Given the description of an element on the screen output the (x, y) to click on. 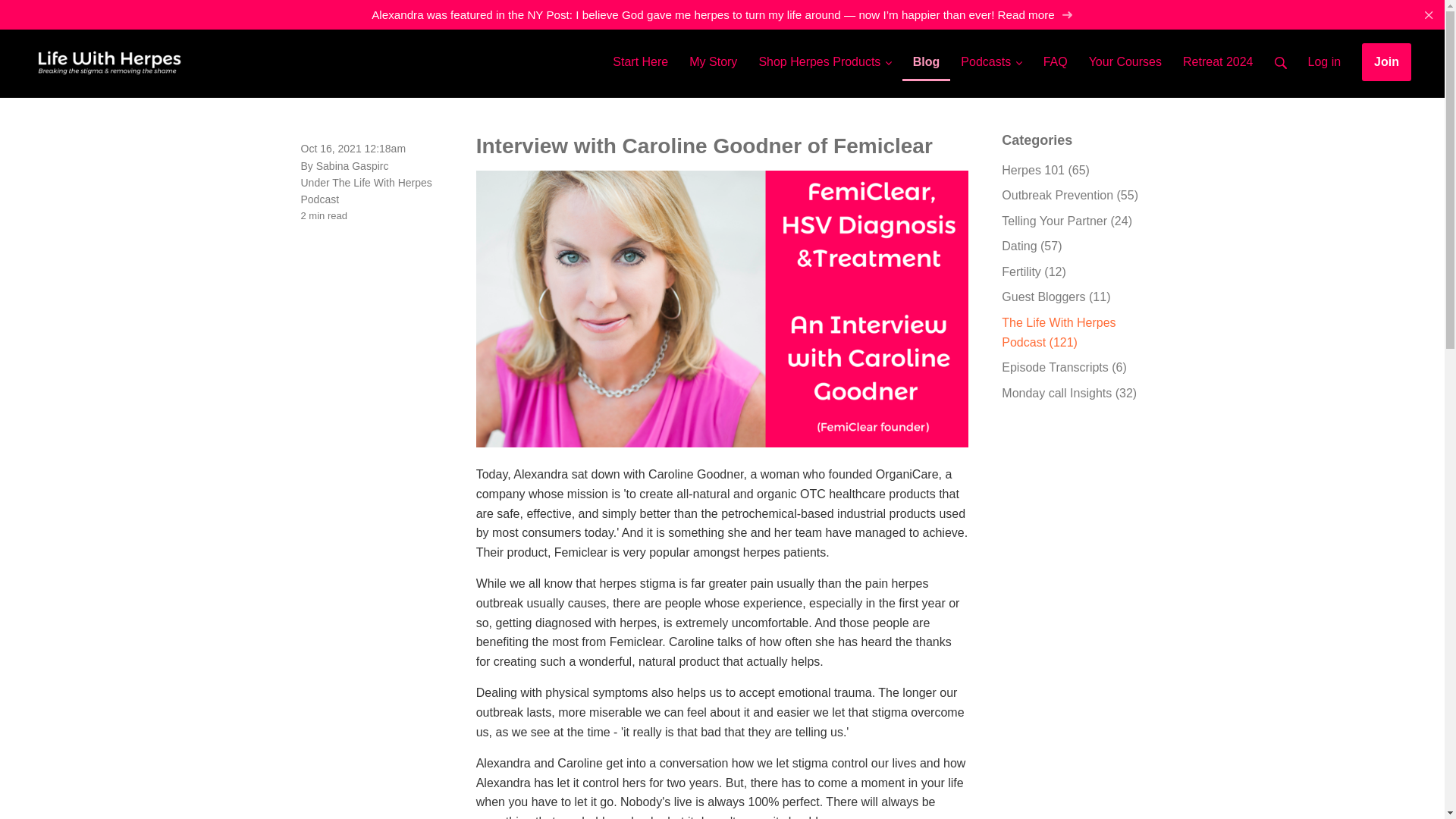
The Life With Herpes Podcast (364, 190)
My Story (713, 55)
Your Courses (1125, 55)
Podcasts (991, 55)
Join (1385, 62)
FAQ (1055, 55)
Log in (1324, 55)
Start Here (640, 55)
Retreat 2024 (1217, 55)
Shop Herpes Products (824, 55)
